Given the description of an element on the screen output the (x, y) to click on. 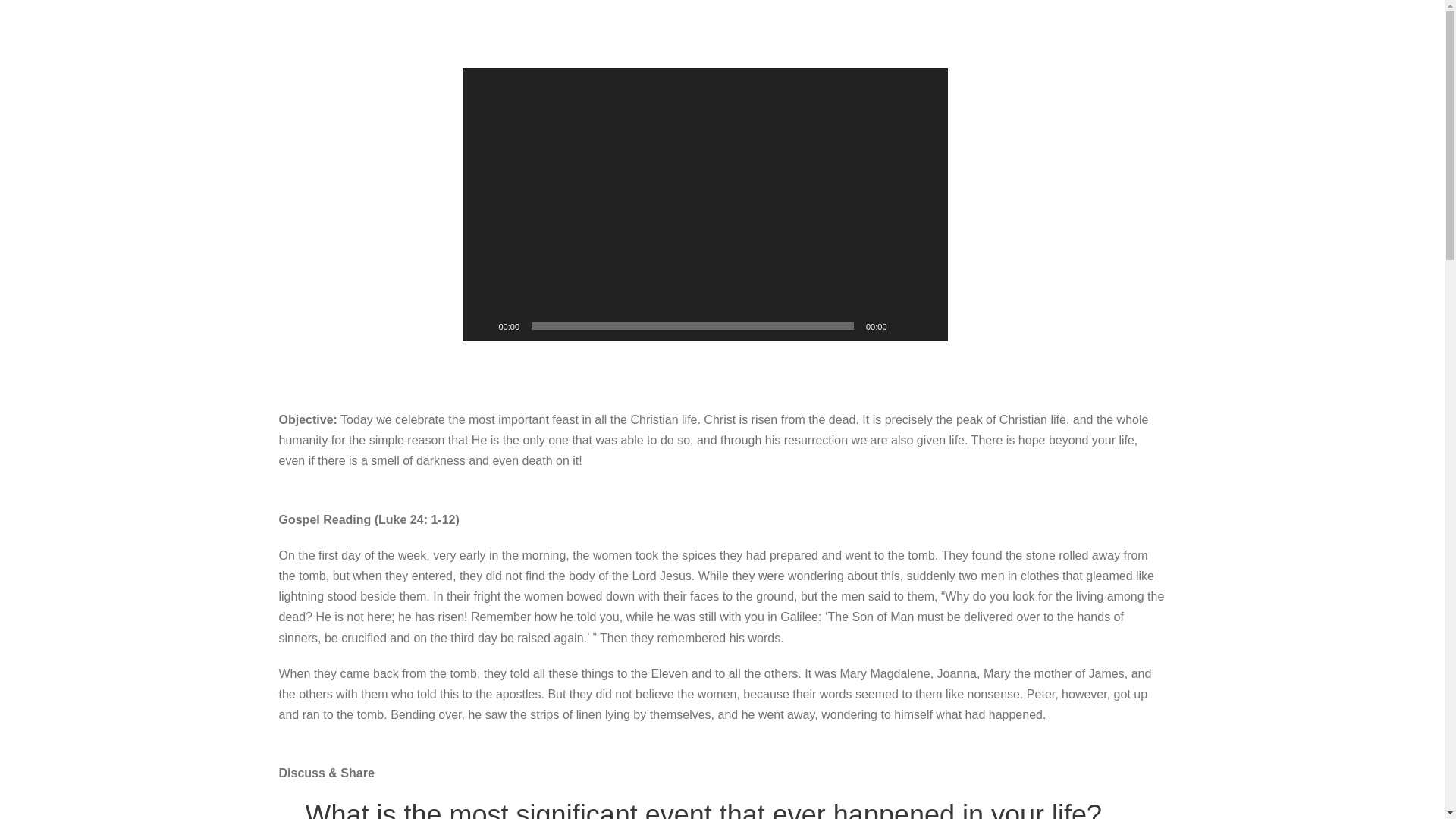
Play (481, 325)
Mute (903, 325)
Fullscreen (928, 325)
